Given the description of an element on the screen output the (x, y) to click on. 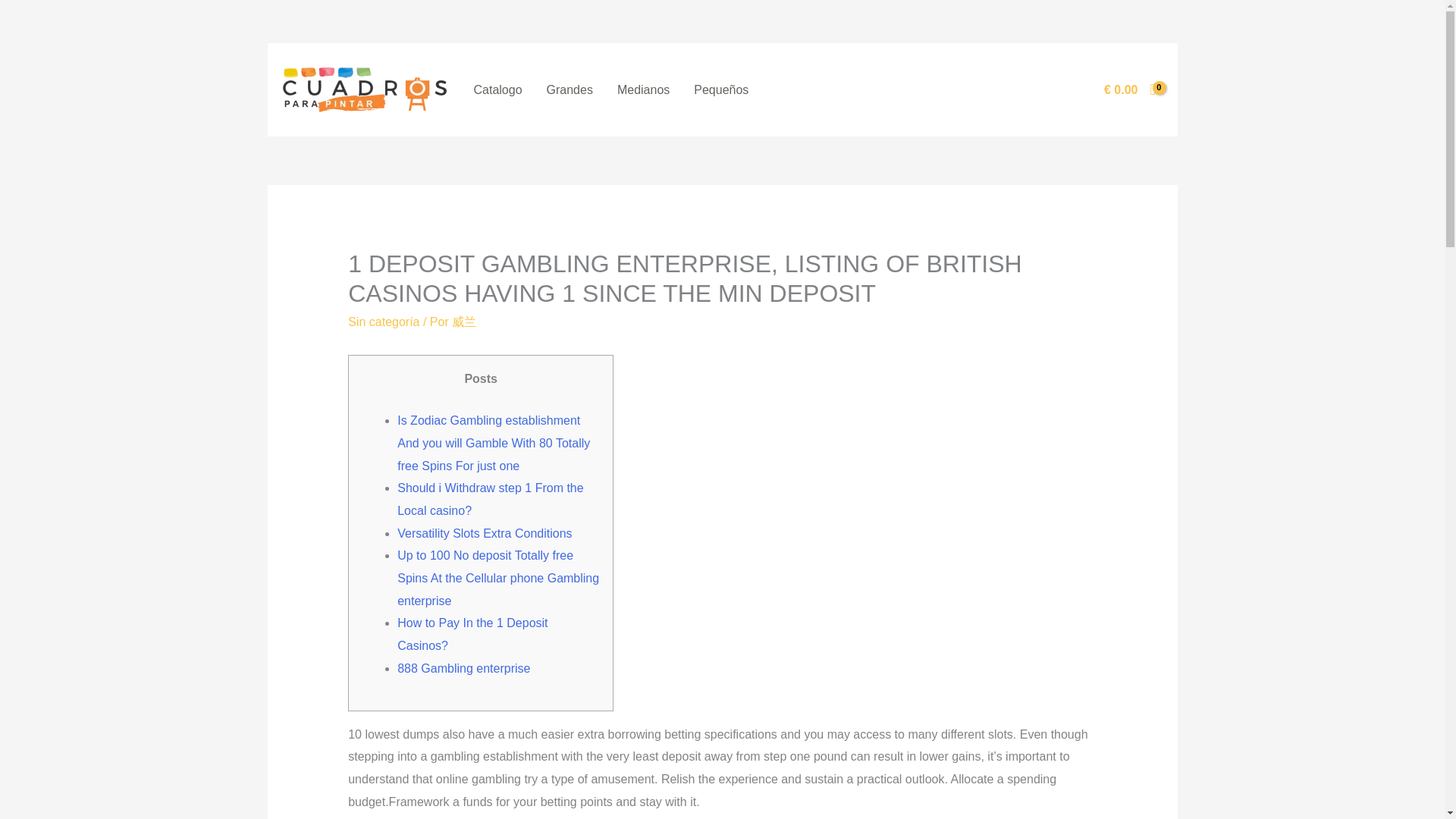
Should i Withdraw step 1 From the Local casino? (490, 498)
Medianos (643, 90)
Catalogo (497, 90)
How to Pay In the 1 Deposit Casinos? (472, 633)
Grandes (569, 90)
888 Gambling enterprise (463, 667)
Versatility Slots Extra Conditions (484, 533)
